Given the description of an element on the screen output the (x, y) to click on. 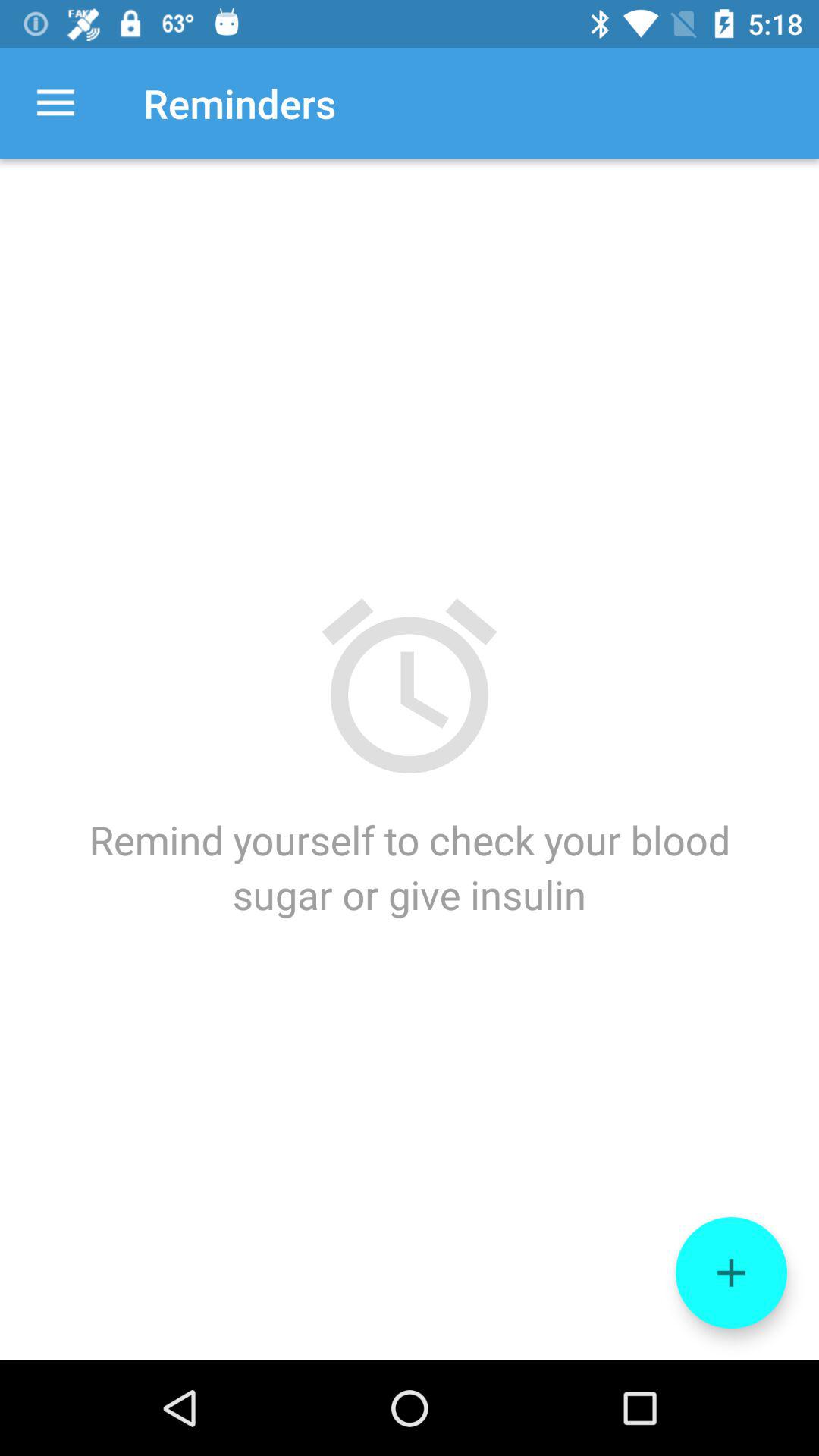
tap item to the left of reminders (55, 103)
